Given the description of an element on the screen output the (x, y) to click on. 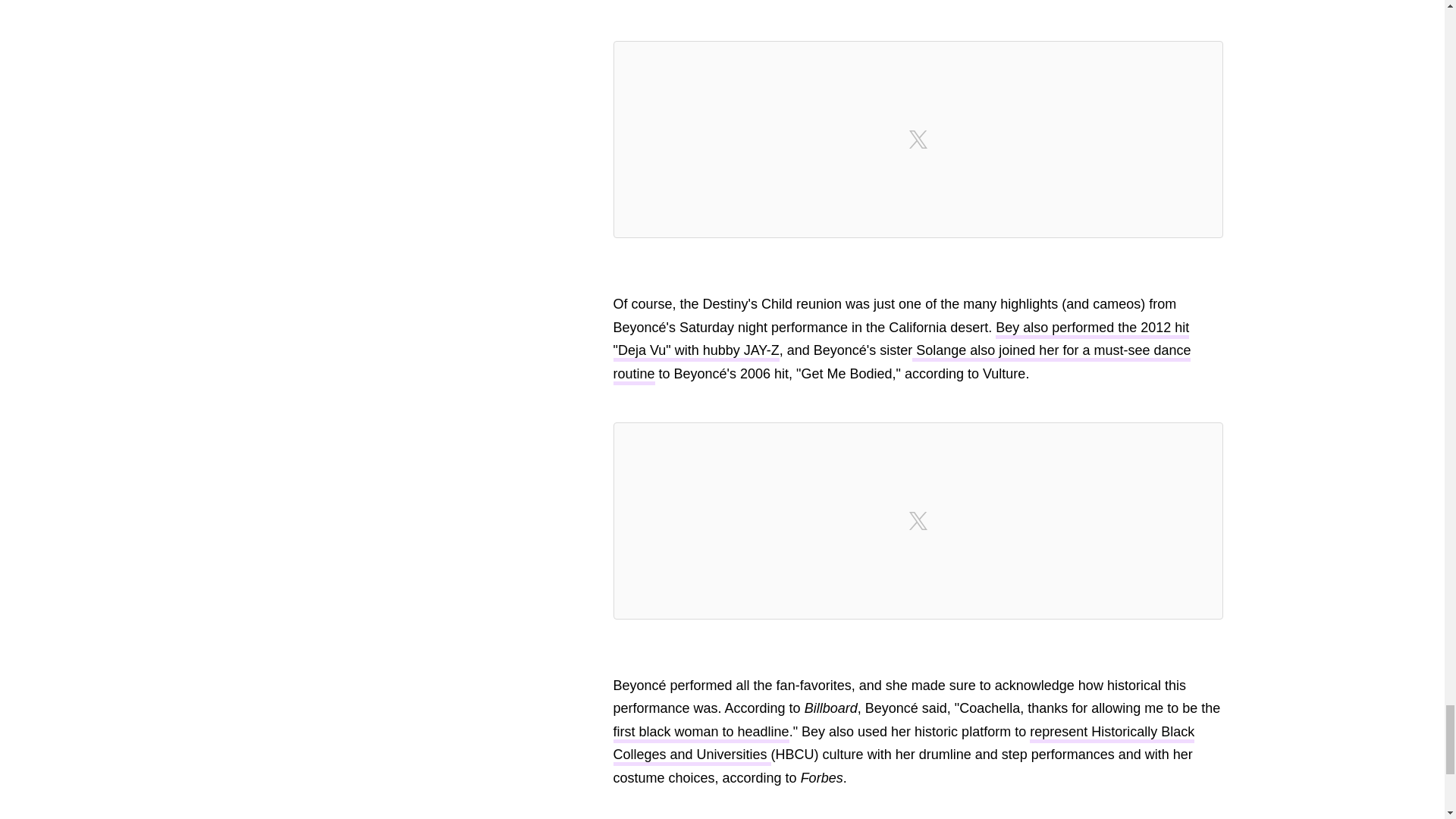
first black woman to headline (700, 732)
Solange also joined her for a must-see dance routine (901, 363)
Bey also performed the 2012 hit "Deja Vu" with hubby JAY-Z (900, 341)
represent Historically Black Colleges and Universities (902, 744)
